Given the description of an element on the screen output the (x, y) to click on. 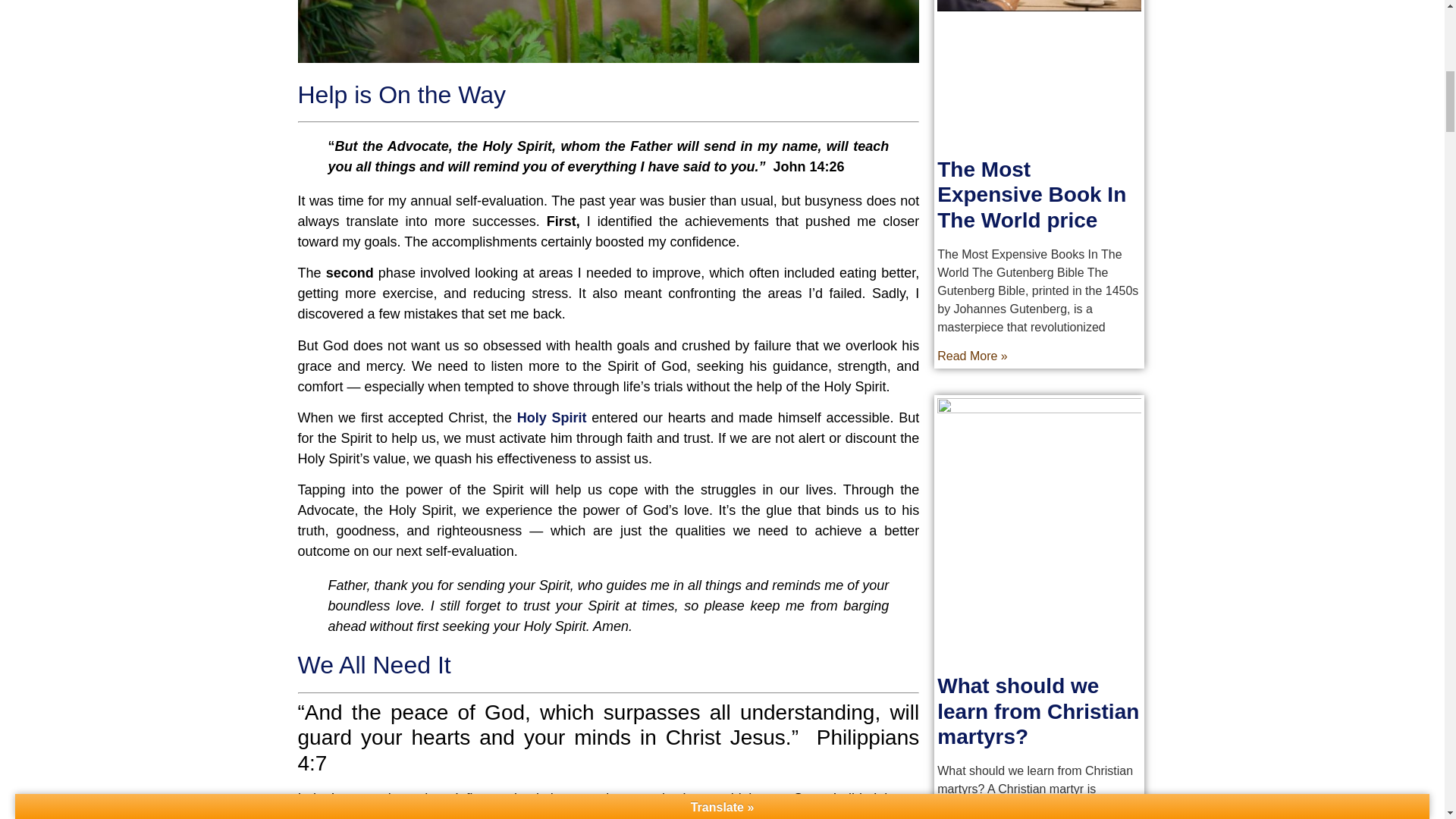
The Most Expensive Book In The World price (1031, 194)
We All Need It (373, 664)
Help is On the Way (401, 94)
What should we learn from Christian martyrs? (1037, 711)
Holy Spirit  (553, 417)
